Given the description of an element on the screen output the (x, y) to click on. 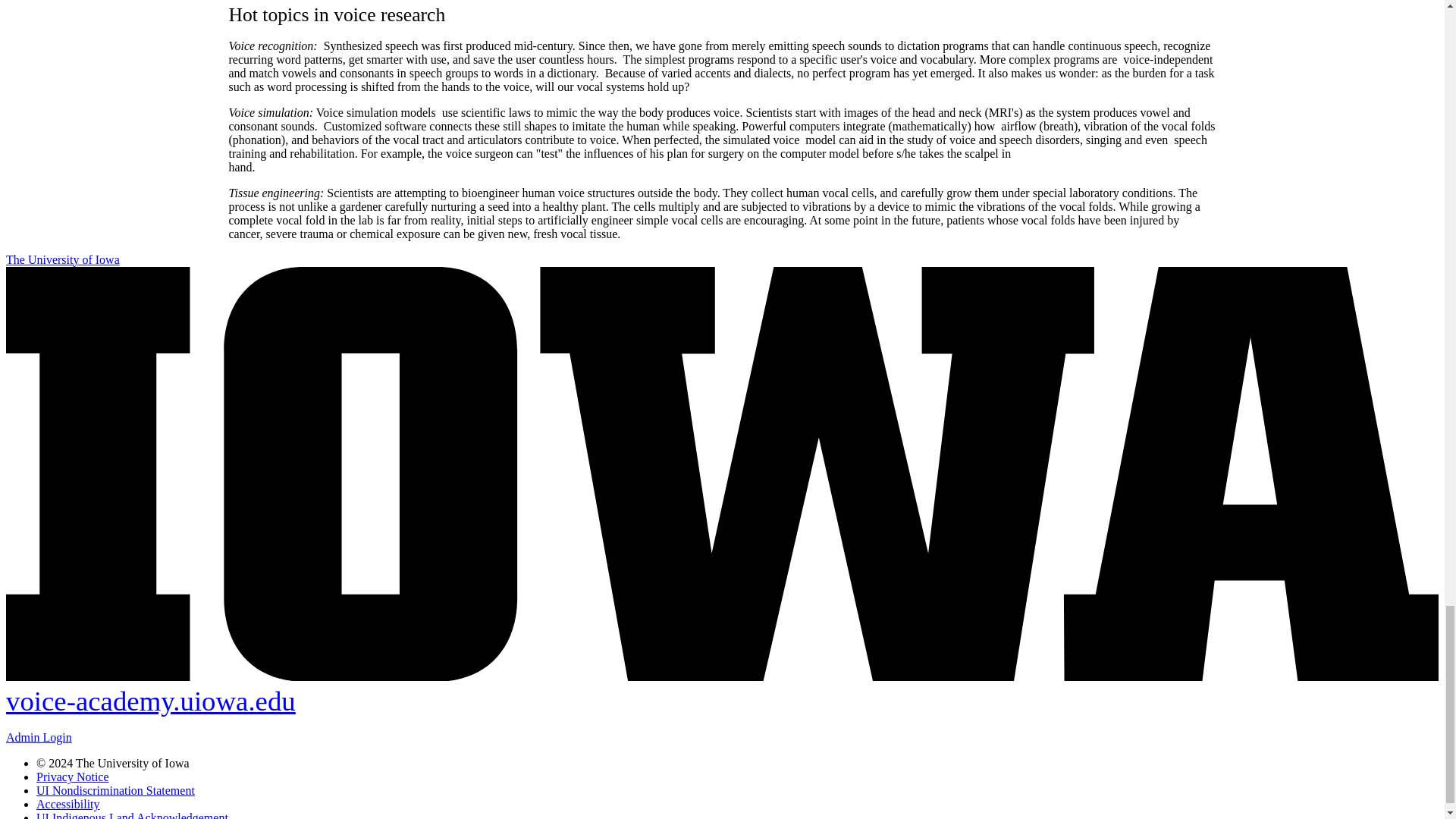
Admin Login (38, 737)
UI Nondiscrimination Statement (115, 789)
Privacy Notice (72, 776)
Accessibility (68, 803)
